Given the description of an element on the screen output the (x, y) to click on. 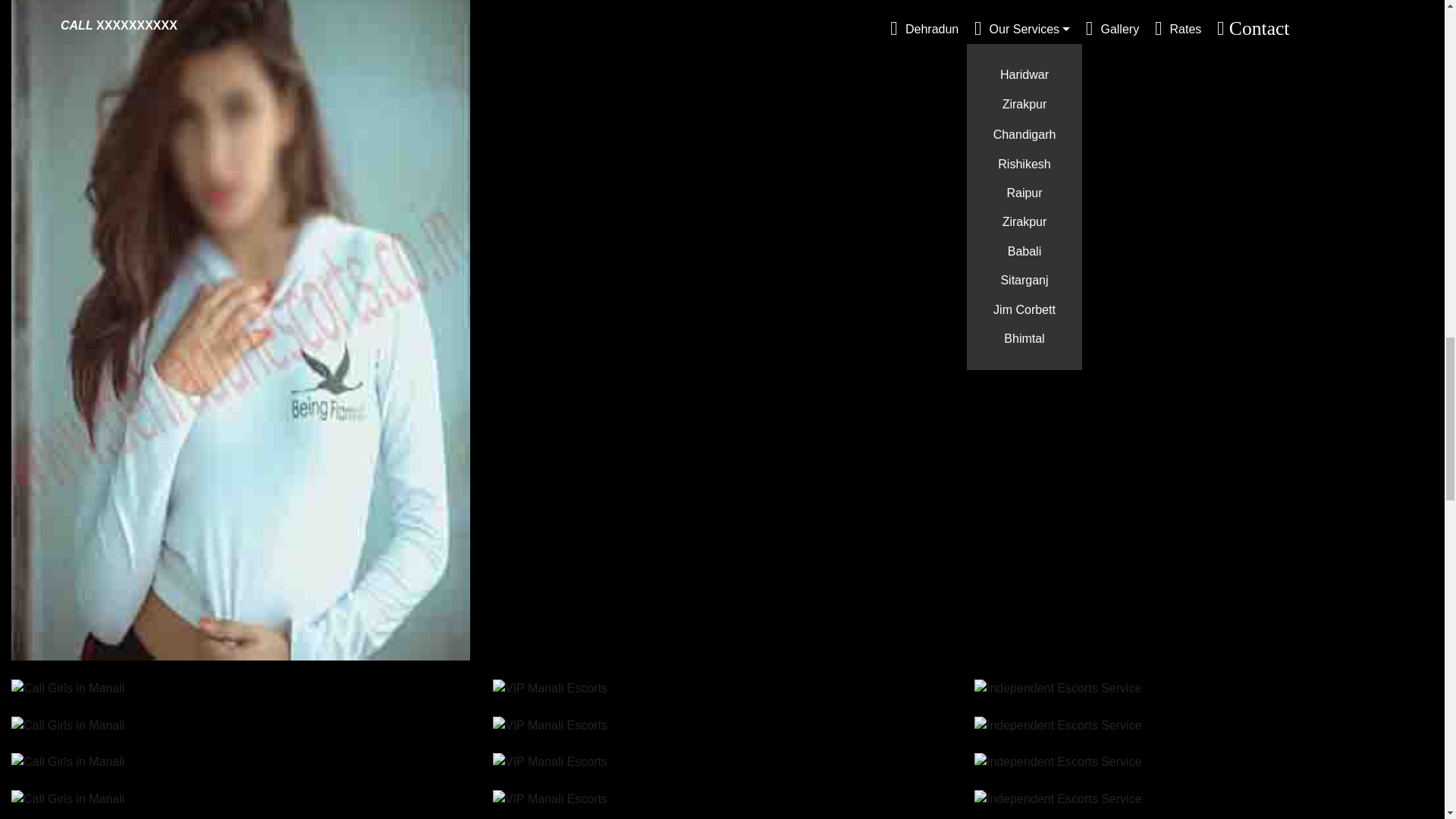
Independent Escorts Service (1057, 725)
Independent Escorts Service (1057, 688)
Call Girls in Manali (67, 688)
Call Girls in Manali (67, 725)
VIP Manali Escorts (550, 688)
VIP Manali Escorts (550, 725)
Call Girls in Manali (67, 761)
Call Girls in Manali (67, 799)
Independent Escorts Service (1057, 761)
VIP Manali Escorts (550, 761)
VIP Manali Escorts (550, 799)
Independent Escorts Service (1057, 799)
